Given the description of an element on the screen output the (x, y) to click on. 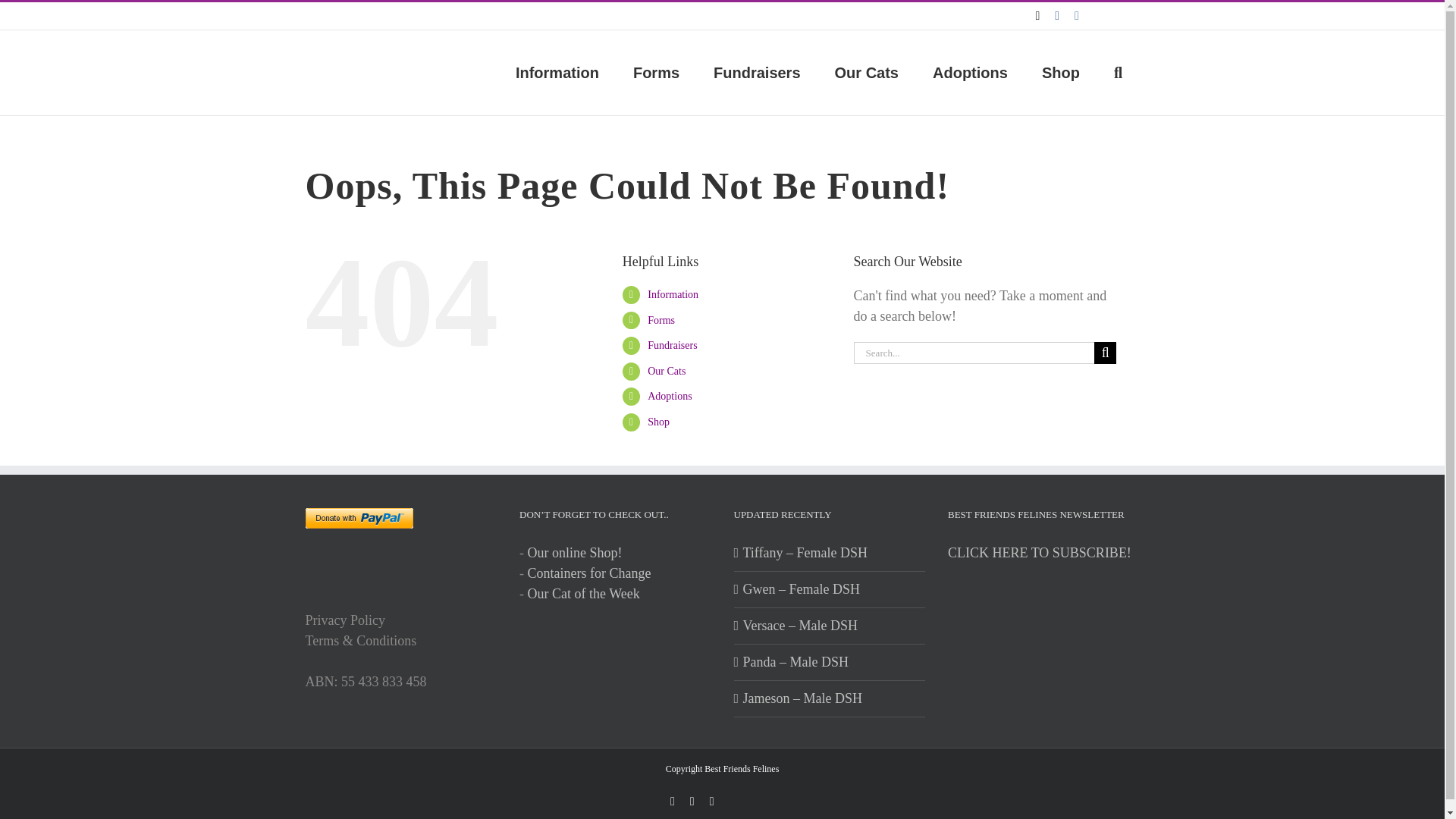
Forms (655, 72)
Paypal (1117, 15)
Paypal (1117, 15)
Our Cats (865, 72)
Information (556, 72)
Paypal (751, 798)
Adoptions (970, 72)
Fundraisers (756, 72)
